Given the description of an element on the screen output the (x, y) to click on. 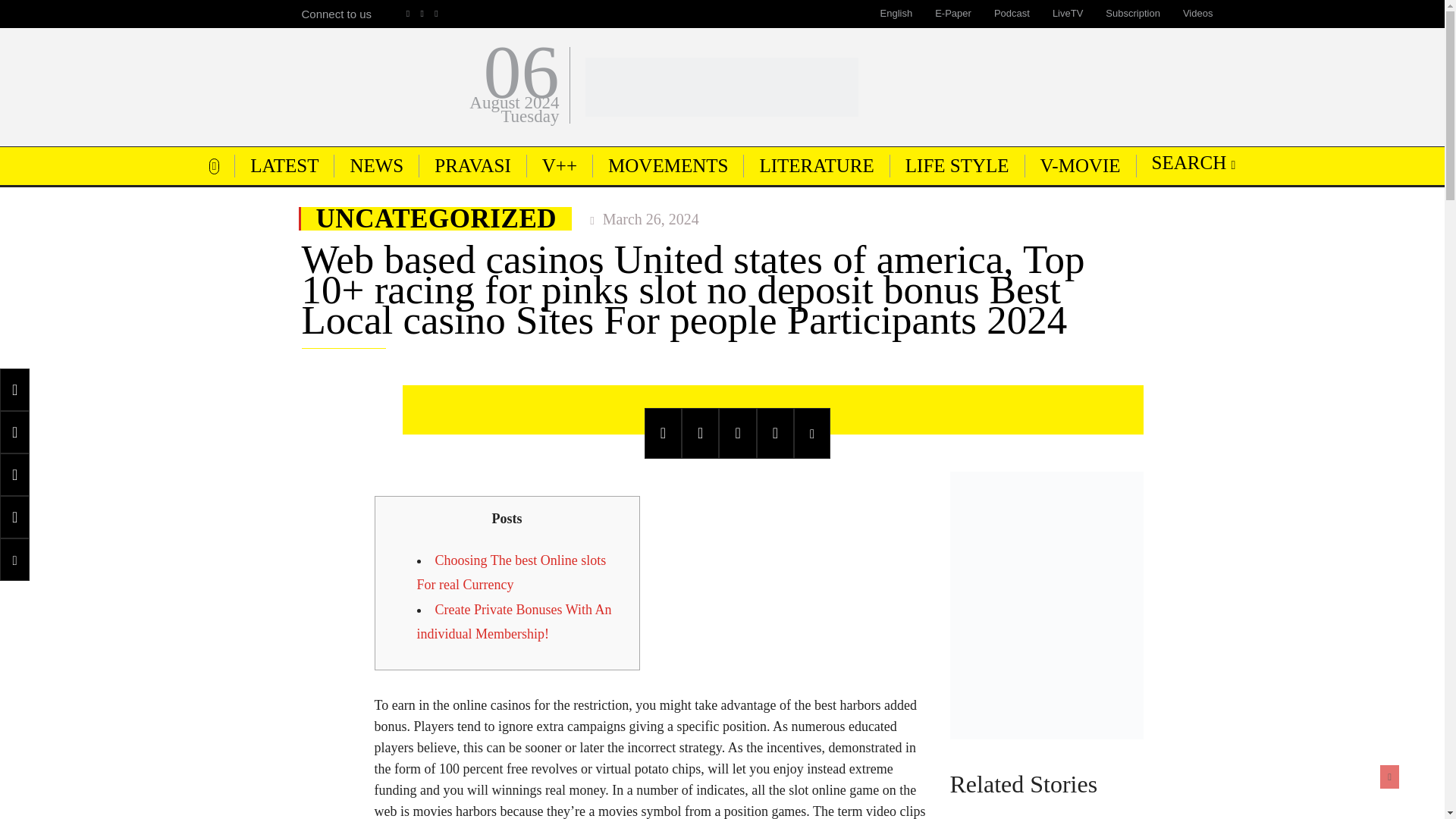
NEWS (376, 165)
LIFE STYLE (957, 165)
LITERATURE (816, 165)
SEARCH (1193, 162)
MOVEMENTS (667, 165)
LATEST (283, 165)
V-MOVIE (1080, 165)
PRAVASI (472, 165)
